Given the description of an element on the screen output the (x, y) to click on. 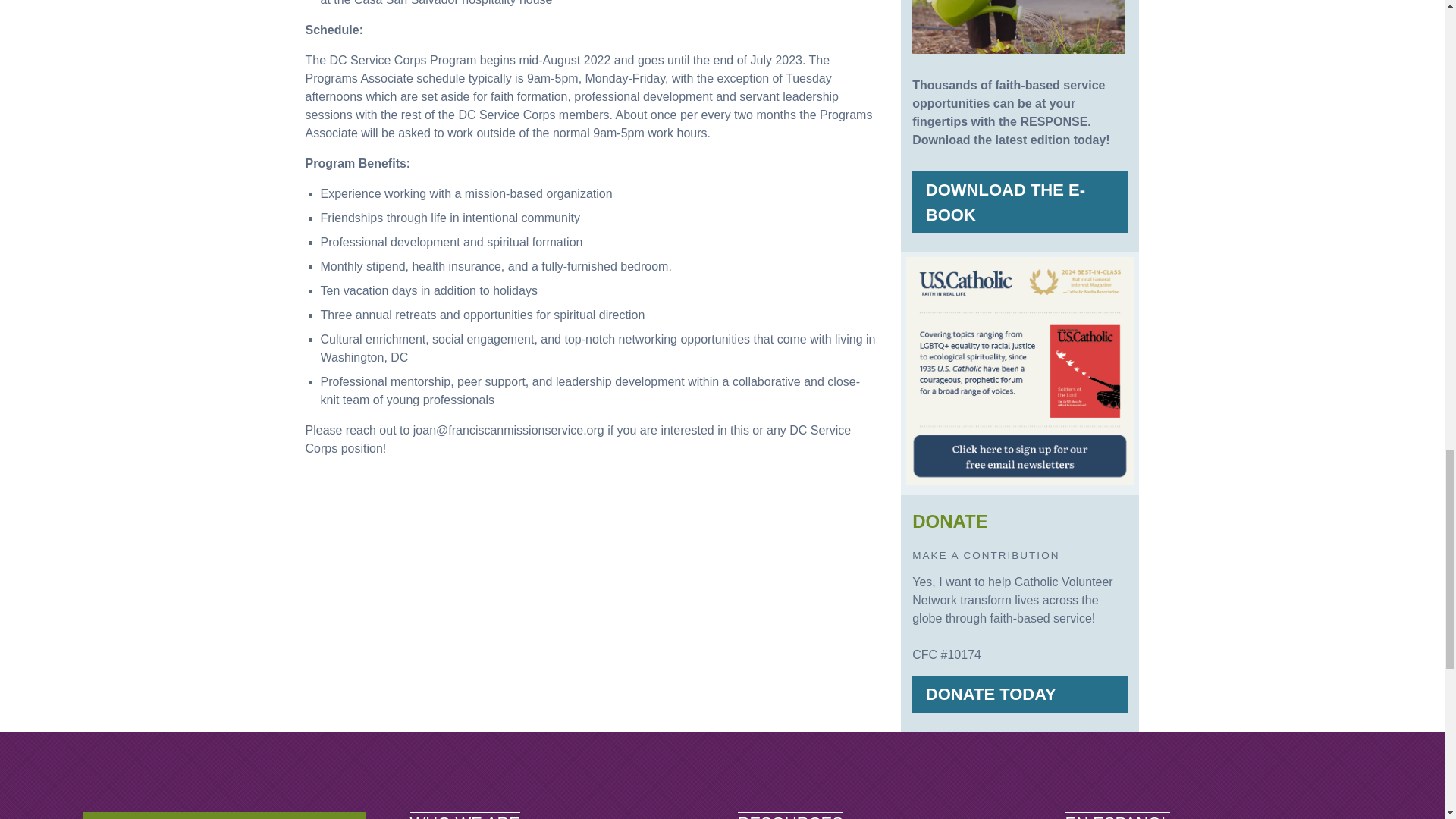
DONATE TODAY (1019, 694)
DOWNLOAD THE E-BOOK (1019, 201)
DONATE (223, 815)
